Given the description of an element on the screen output the (x, y) to click on. 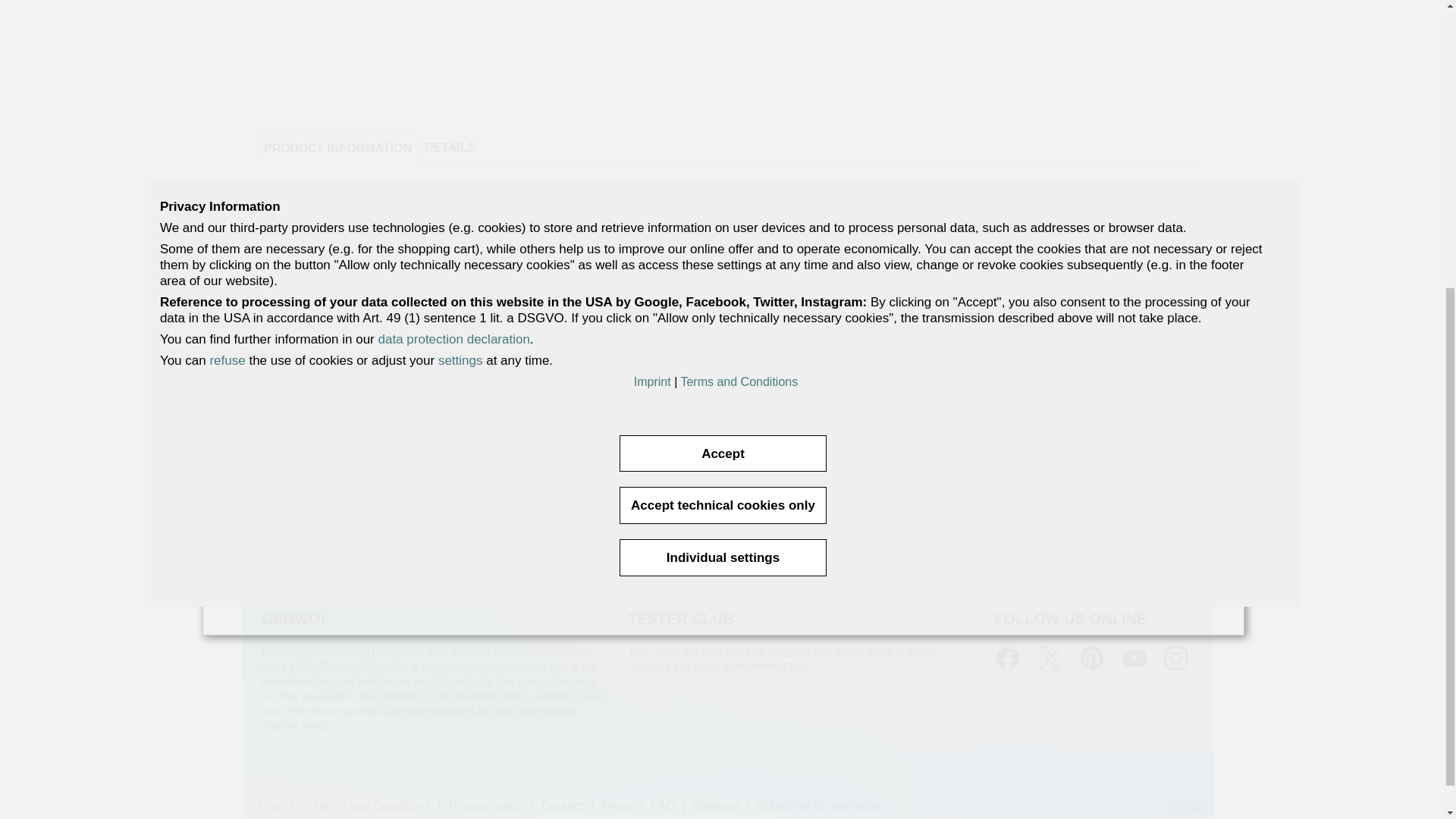
Accept technical cookies only (722, 48)
Individual settings (722, 100)
Individual settings (722, 100)
Accept technical cookies only (722, 48)
Accept (722, 7)
Accept (722, 7)
